Given the description of an element on the screen output the (x, y) to click on. 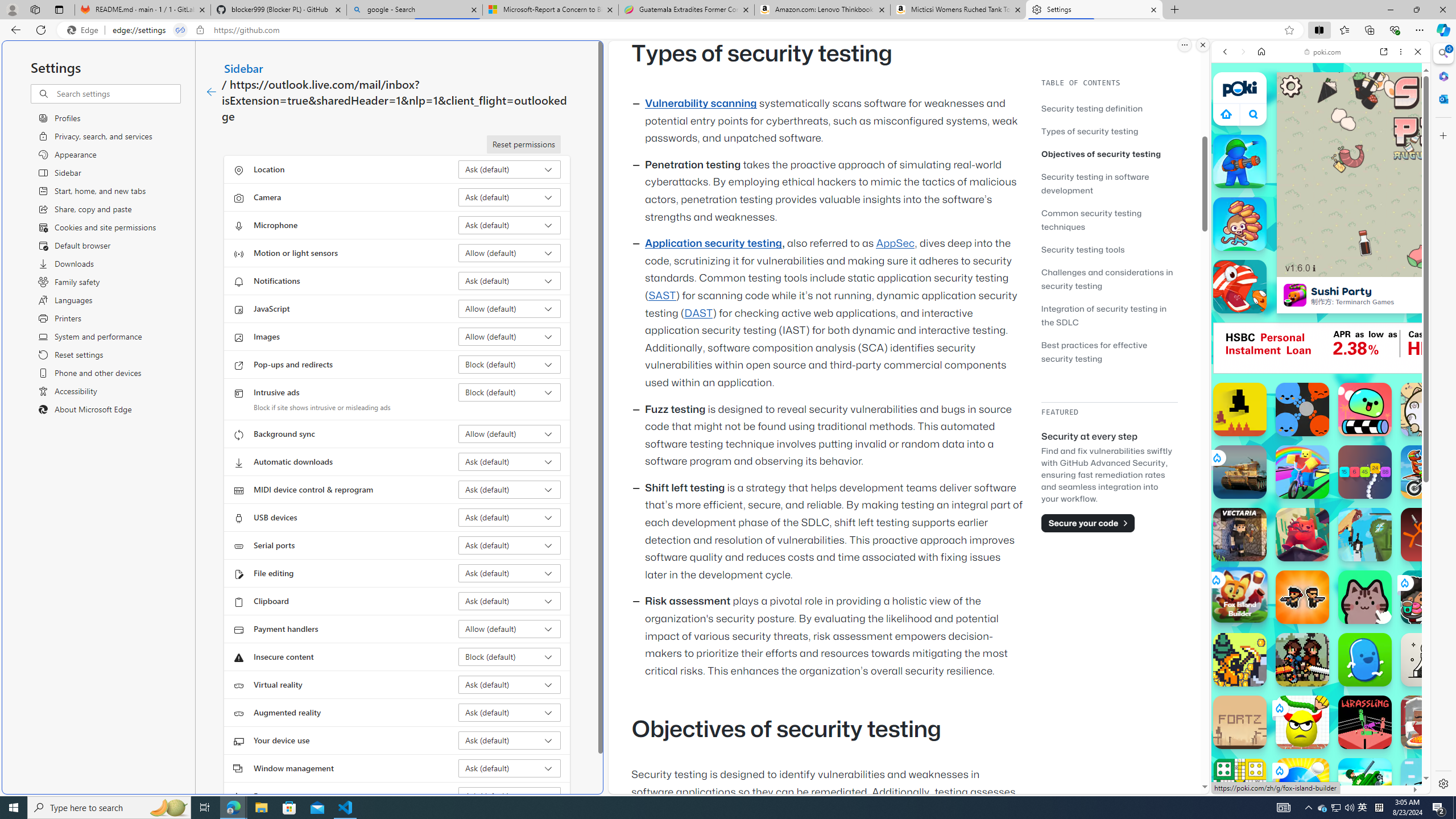
Common security testing techniques (1091, 219)
Your device use Ask (default) (509, 740)
Objectives of security testing (1101, 153)
Motion or light sensors Allow (default) (509, 253)
Best practices for effective security testing (1109, 351)
Objectives of security testing (1109, 153)
Shady Bears (1302, 534)
Hills of Steel Hills of Steel (1364, 784)
Poki (1315, 754)
Insecure content Block (default) (509, 656)
Go back to Sidebar page. (210, 91)
